Given the description of an element on the screen output the (x, y) to click on. 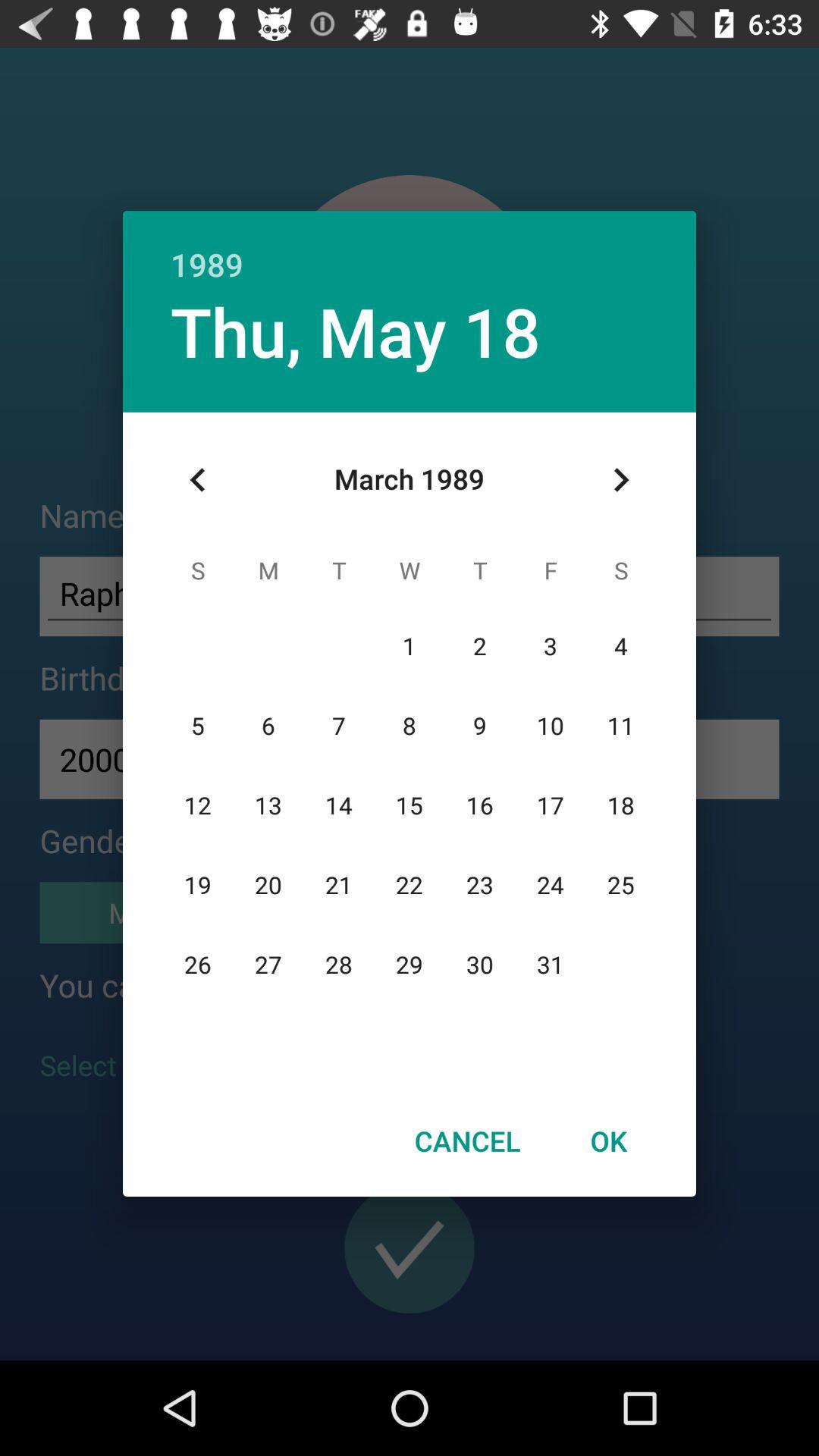
open the ok at the bottom right corner (608, 1140)
